Given the description of an element on the screen output the (x, y) to click on. 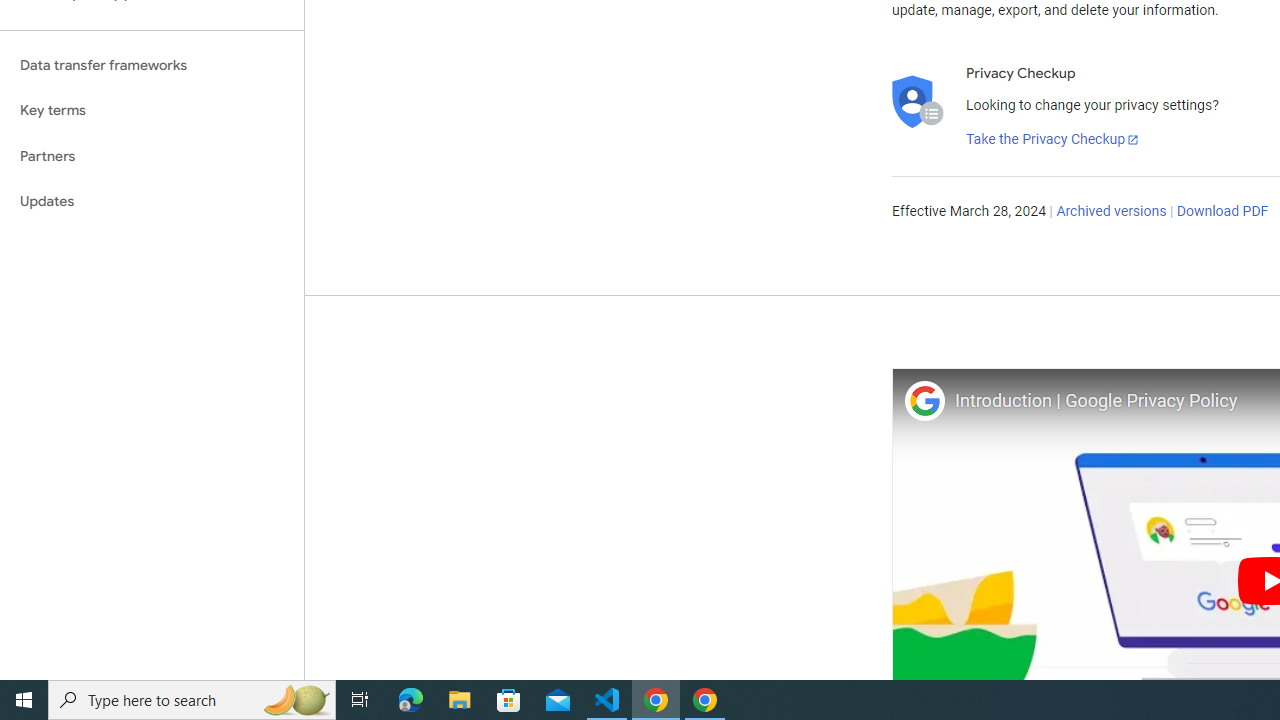
Archived versions (1111, 212)
Partners (152, 156)
Key terms (152, 110)
Take the Privacy Checkup (1053, 140)
Updates (152, 201)
Photo image of Google (924, 400)
Data transfer frameworks (152, 65)
Download PDF (1222, 212)
